Given the description of an element on the screen output the (x, y) to click on. 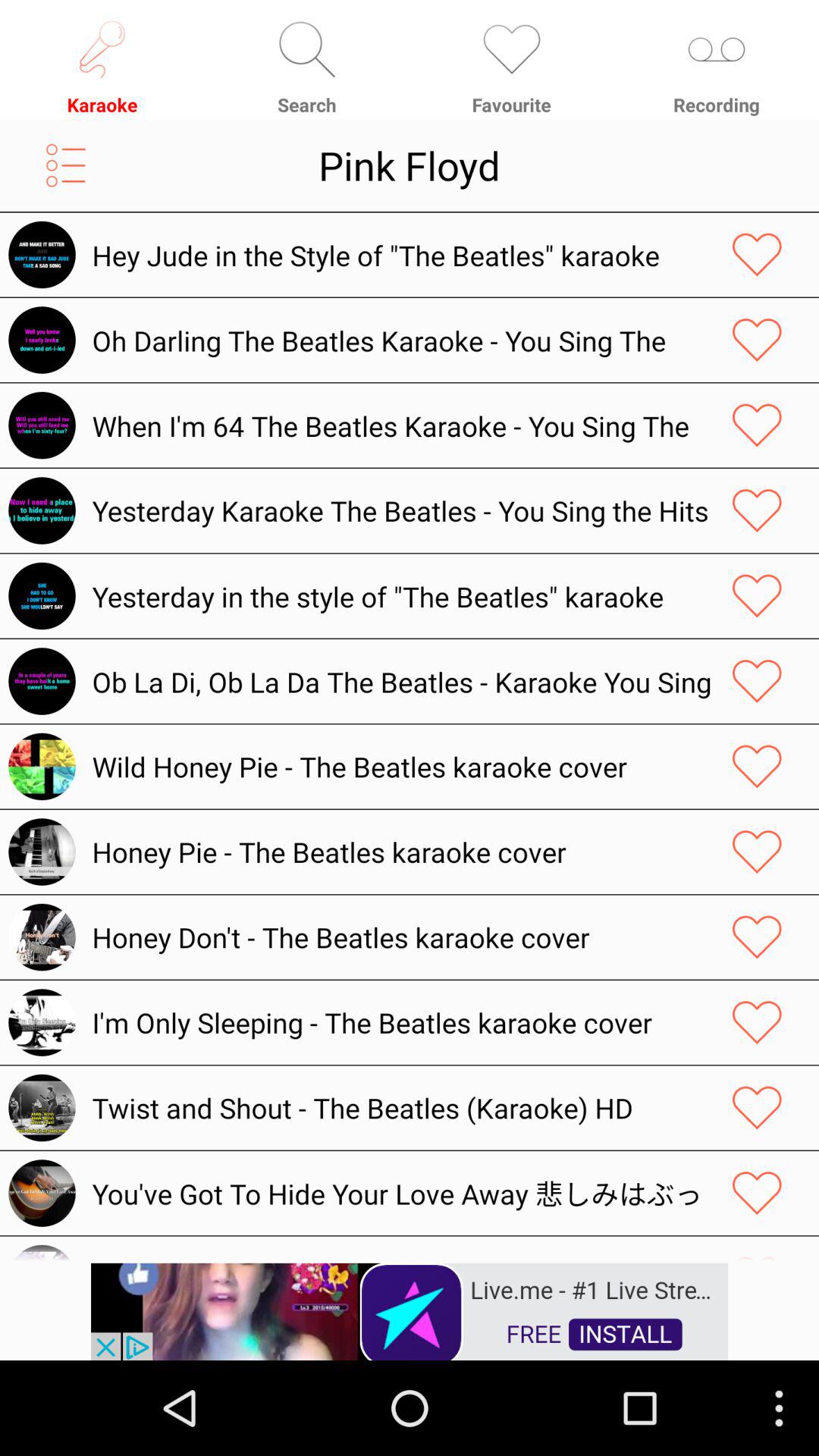
toggle favourite option (756, 510)
